Given the description of an element on the screen output the (x, y) to click on. 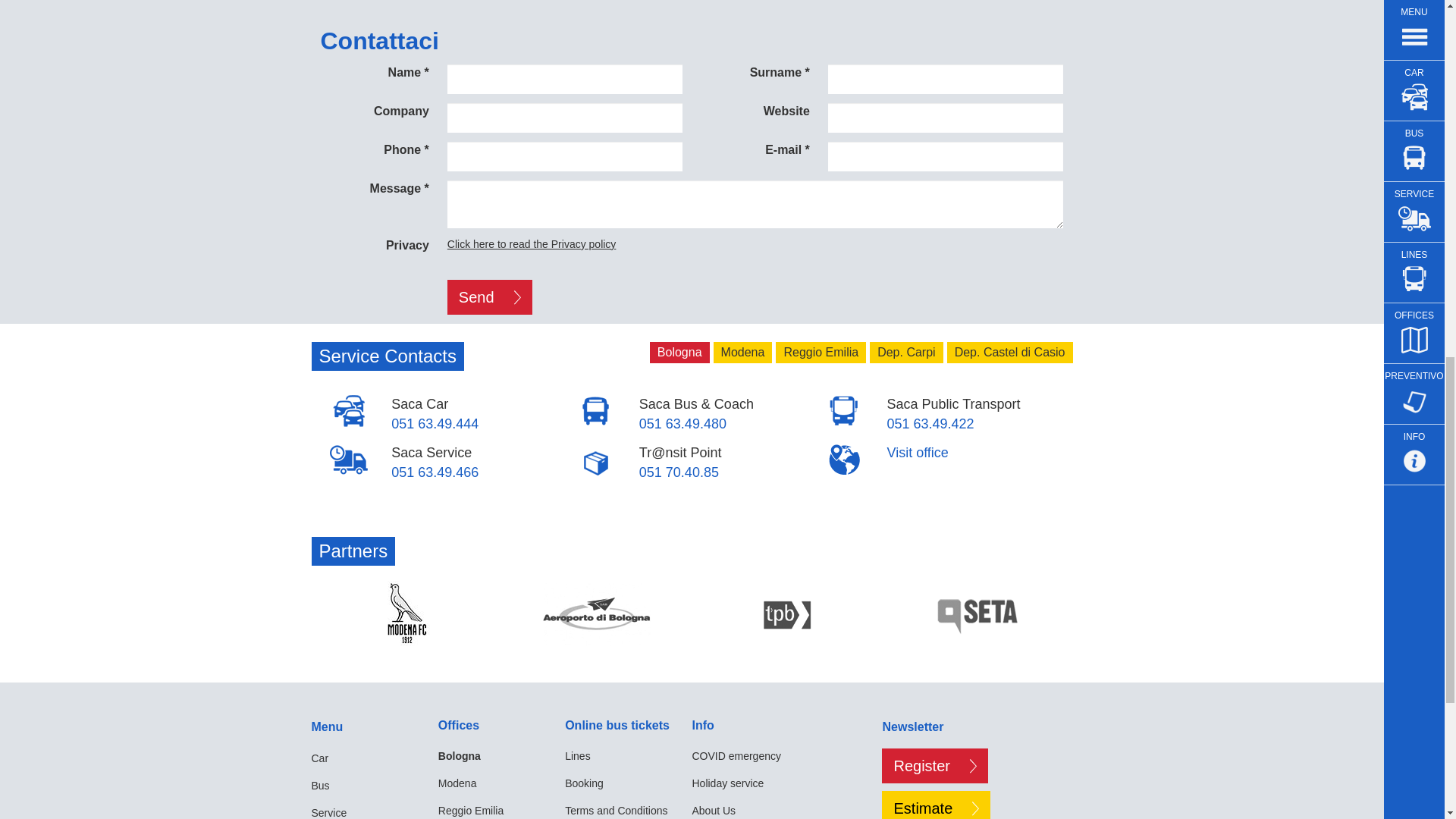
Send (489, 297)
Bologna airport (596, 613)
